Given the description of an element on the screen output the (x, y) to click on. 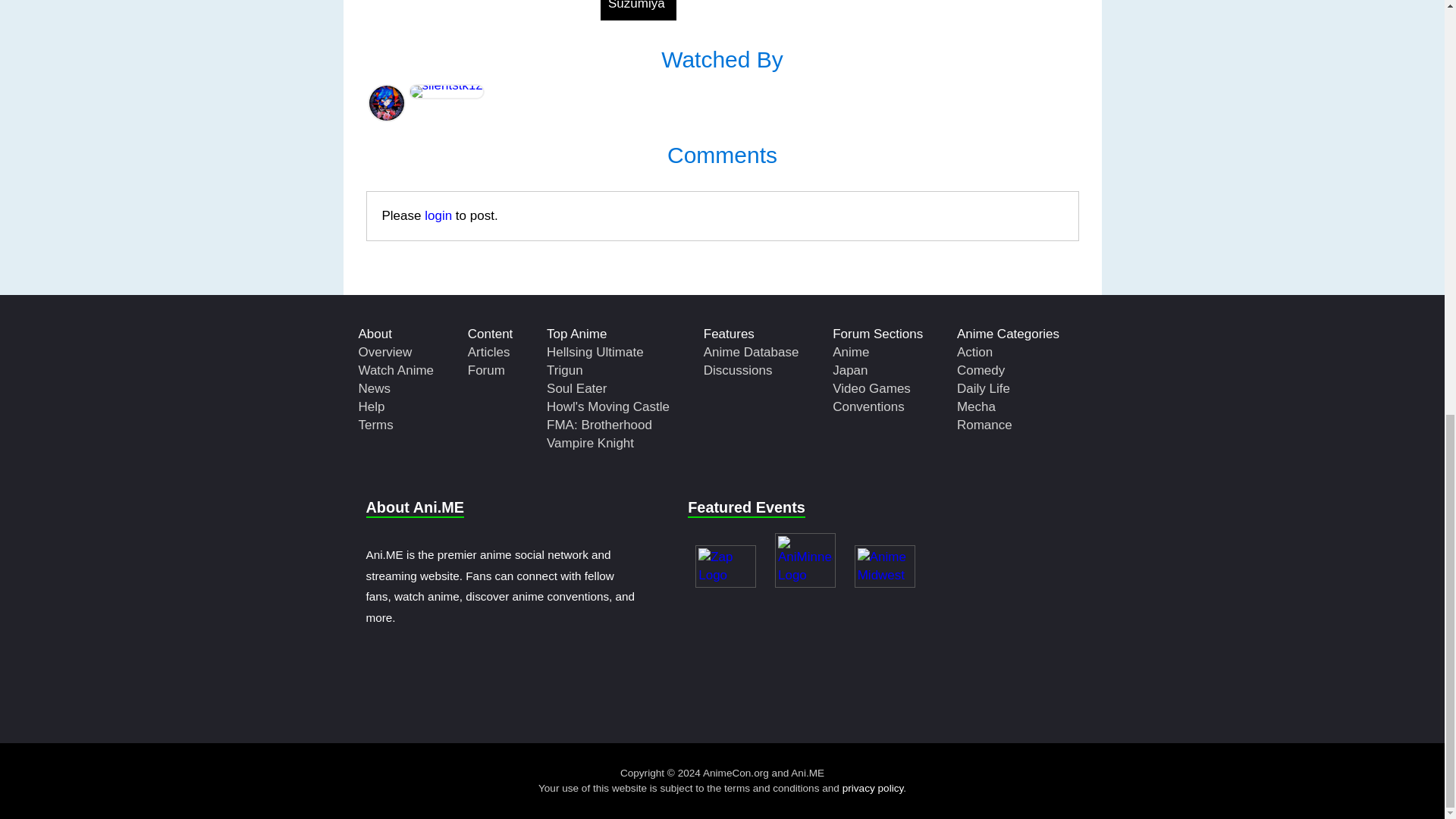
News (374, 388)
Help (371, 406)
Watch Anime (395, 369)
The Melancholy of Haruhi Suzumiya (638, 10)
login (438, 215)
Join us on Twitter (746, 689)
Join us on Facebook (697, 689)
Overview (385, 351)
Terms (375, 424)
